Given the description of an element on the screen output the (x, y) to click on. 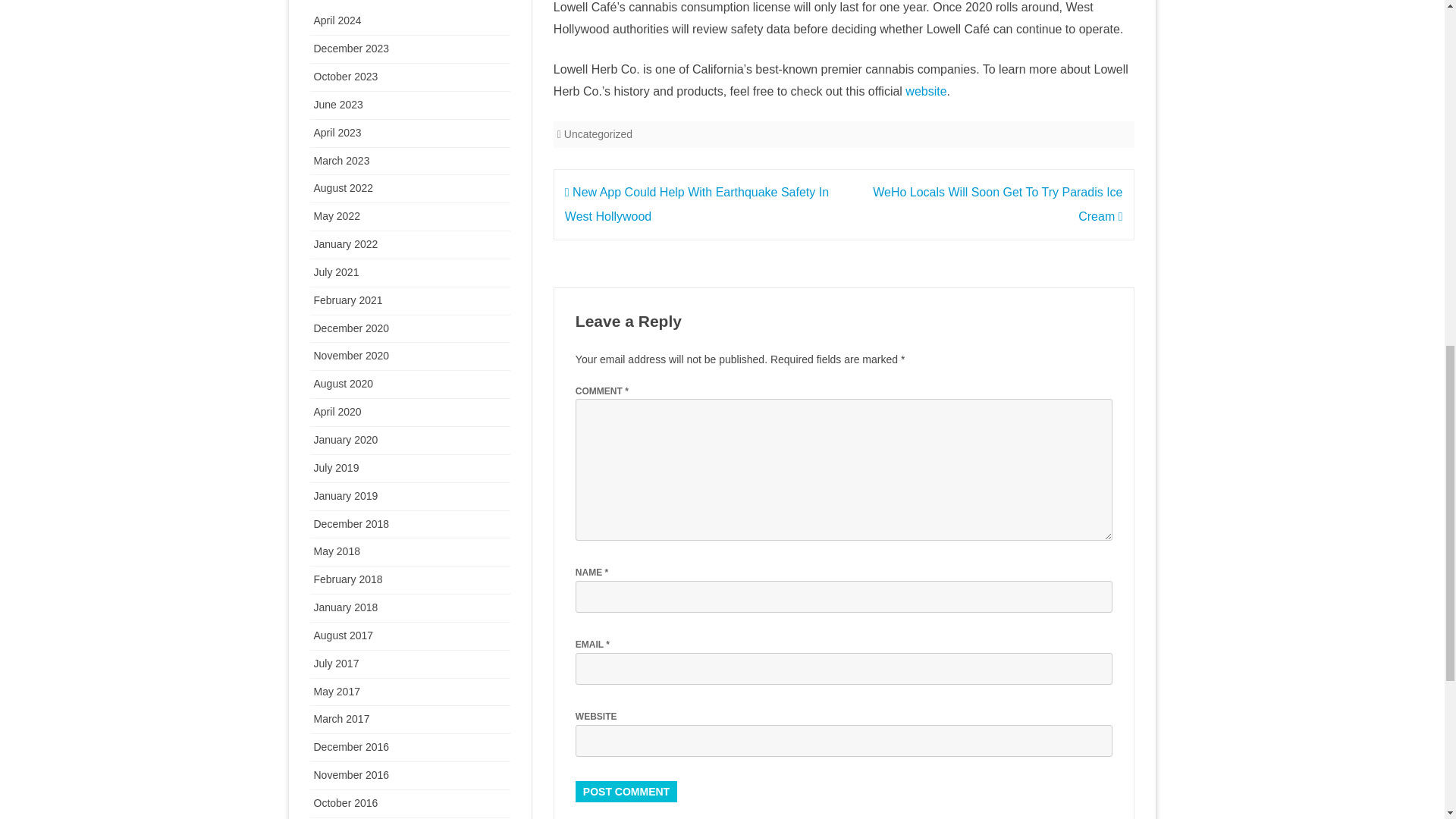
Post Comment (626, 791)
website (925, 91)
WeHo Locals Will Soon Get To Try Paradis Ice Cream (997, 203)
Uncategorized (597, 133)
Post Comment (626, 791)
New App Could Help With Earthquake Safety In West Hollywood (696, 203)
